Given the description of an element on the screen output the (x, y) to click on. 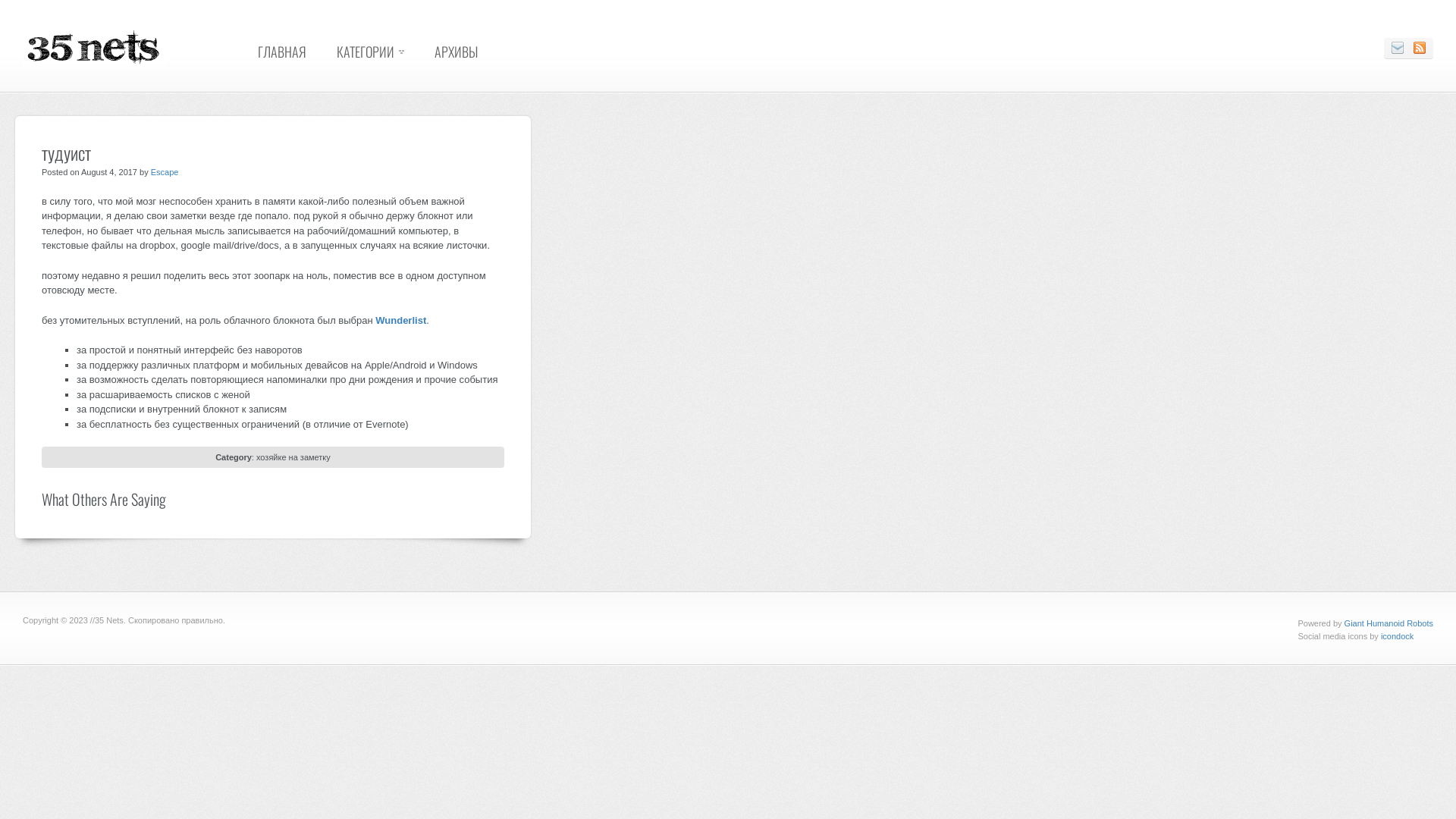
35 Nets Element type: hover (94, 47)
35 Nets Element type: hover (94, 62)
Escape Element type: text (164, 171)
Email Element type: hover (1397, 47)
Wunderlist Element type: text (400, 320)
Subscribe Element type: hover (1419, 47)
icondock Element type: text (1396, 635)
Giant Humanoid Robots Element type: text (1388, 622)
